Given the description of an element on the screen output the (x, y) to click on. 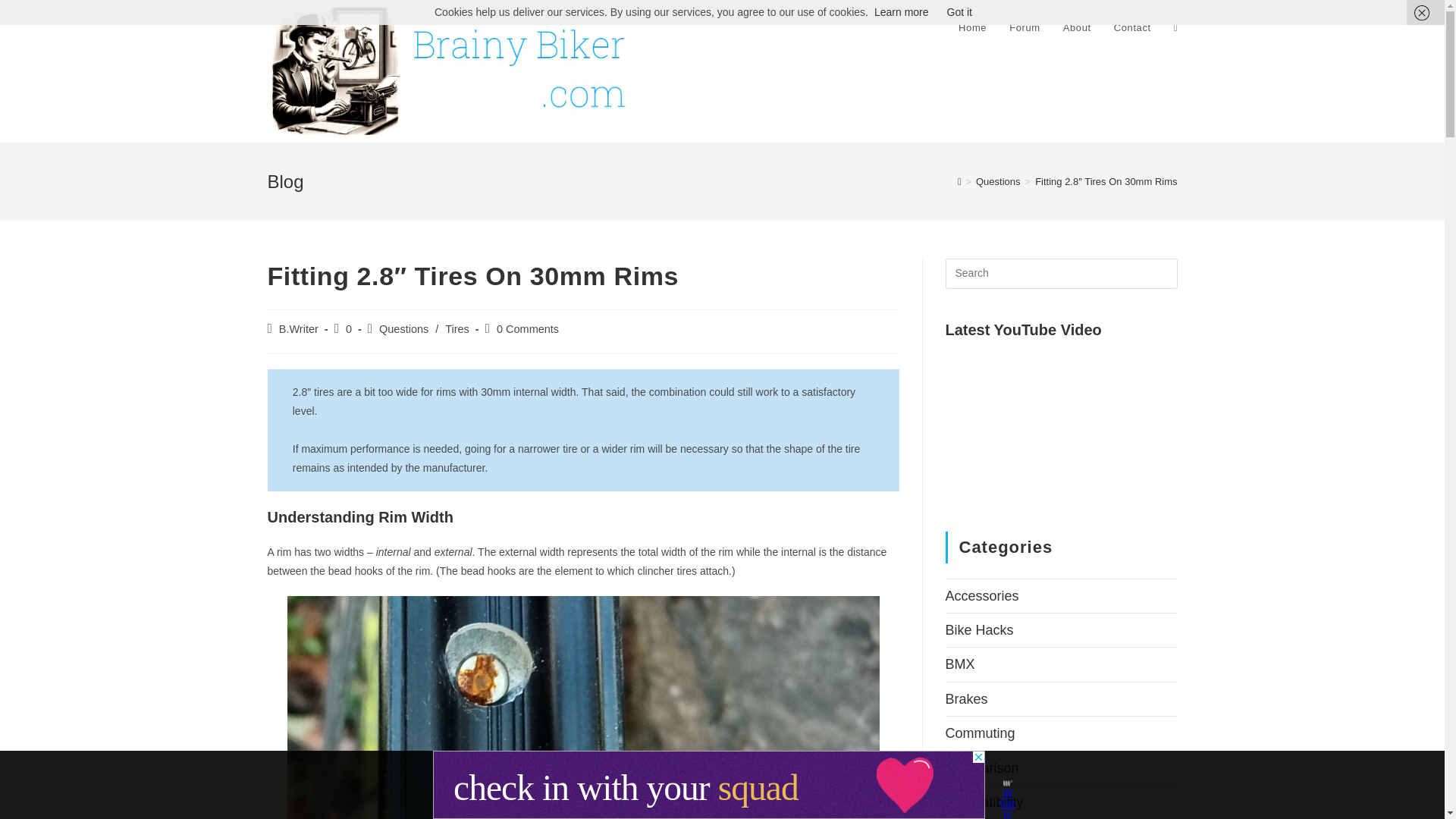
Commuting (979, 733)
Brakes (965, 698)
Forum (1024, 28)
Questions (403, 328)
B.Writer (298, 328)
Posts by B.Writer (298, 328)
Bike Hacks (978, 630)
Accessories (980, 595)
Questions (997, 181)
0 Comments (527, 328)
Tires (456, 328)
About (1076, 28)
Home (972, 28)
Contact (1131, 28)
BMX (959, 663)
